Given the description of an element on the screen output the (x, y) to click on. 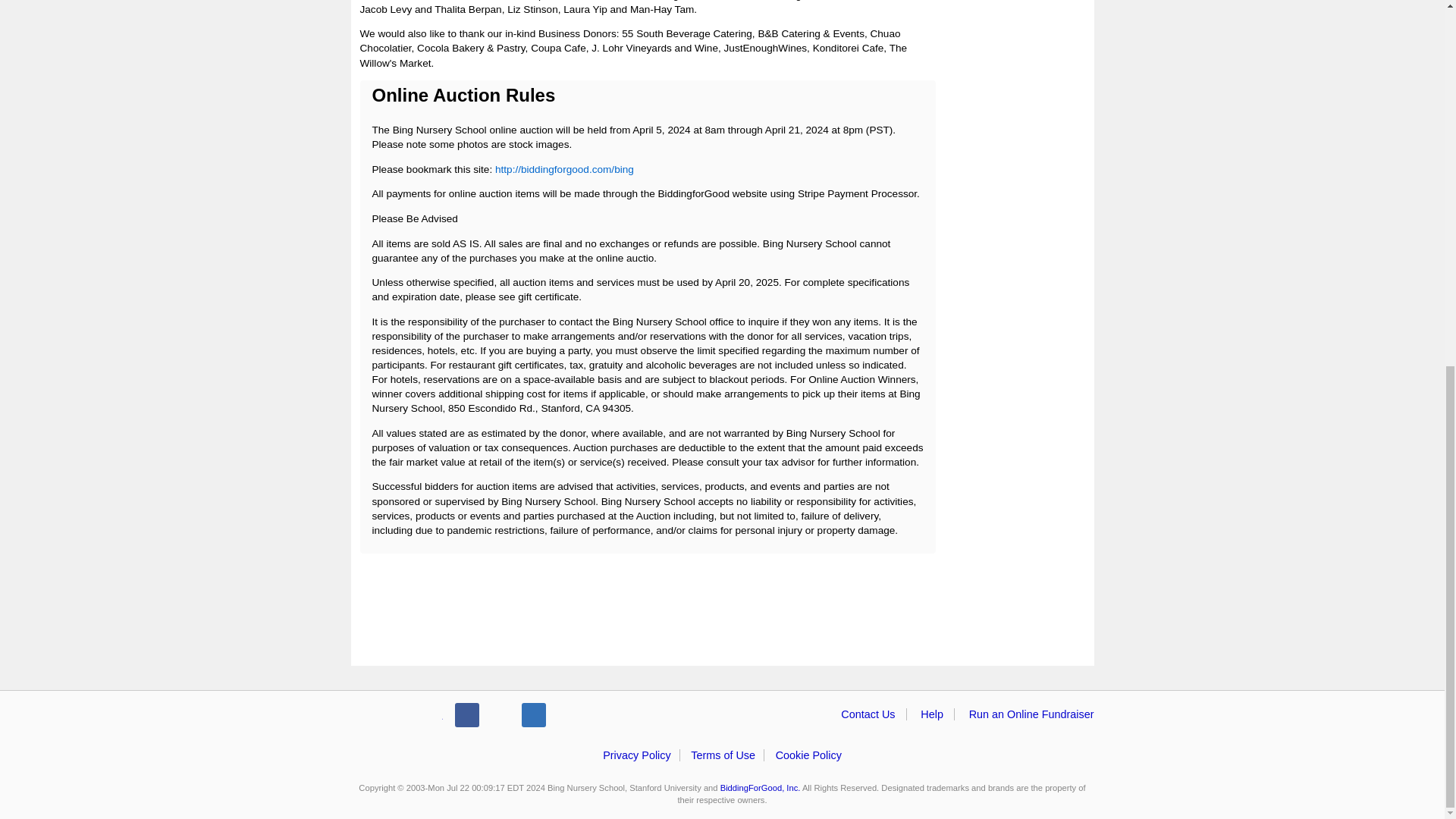
Privacy Policy (636, 755)
Help (931, 714)
Cookie Policy (808, 755)
Follow on Linked In (533, 714)
Terms of Use (722, 755)
Contact Us (868, 714)
Follow on Facebook (466, 714)
Run an Online Fundraiser (1031, 714)
BiddingForGood, Inc. (760, 787)
Follow on Twitter (499, 714)
